Given the description of an element on the screen output the (x, y) to click on. 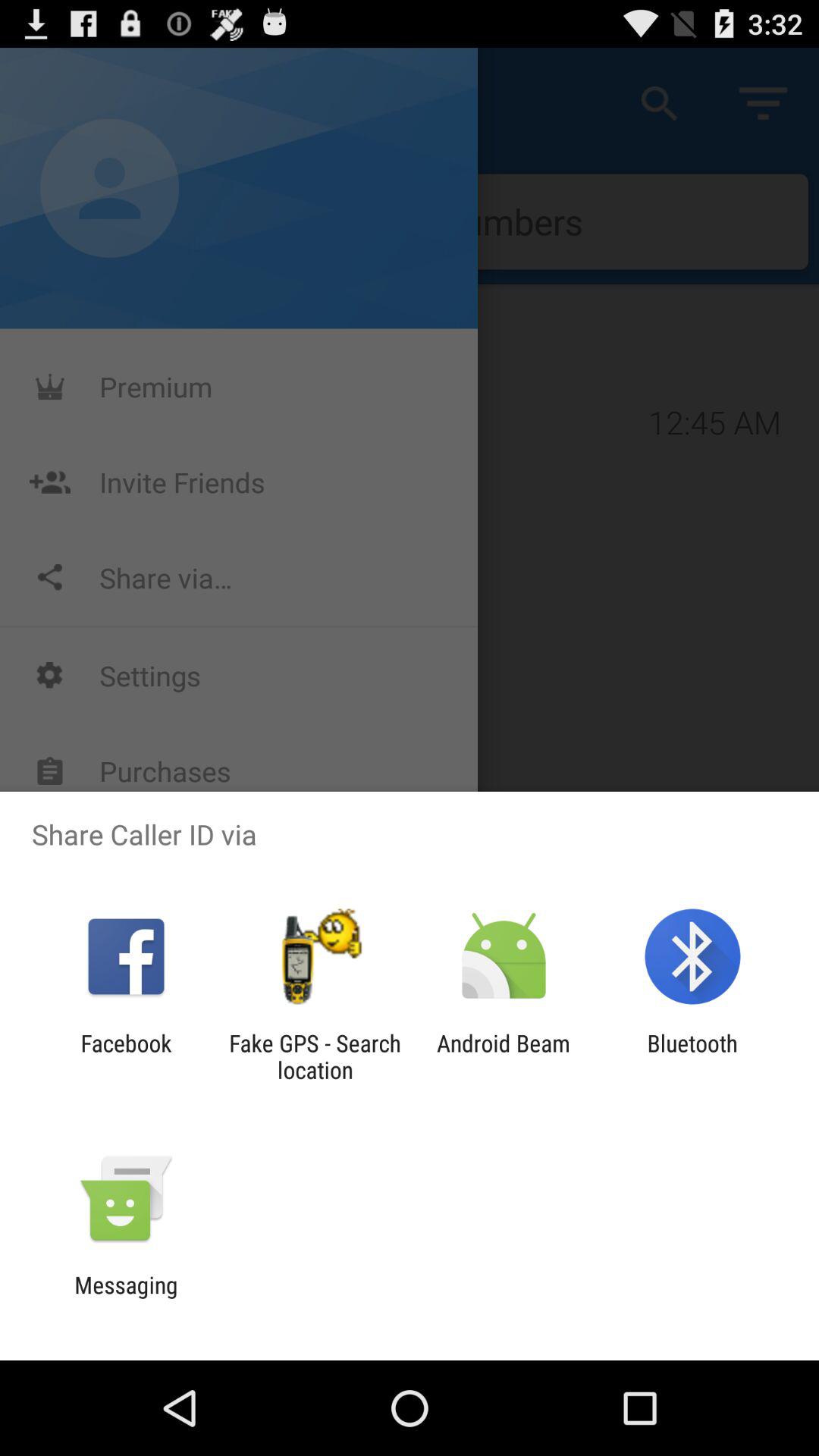
turn off the item to the left of android beam icon (314, 1056)
